Given the description of an element on the screen output the (x, y) to click on. 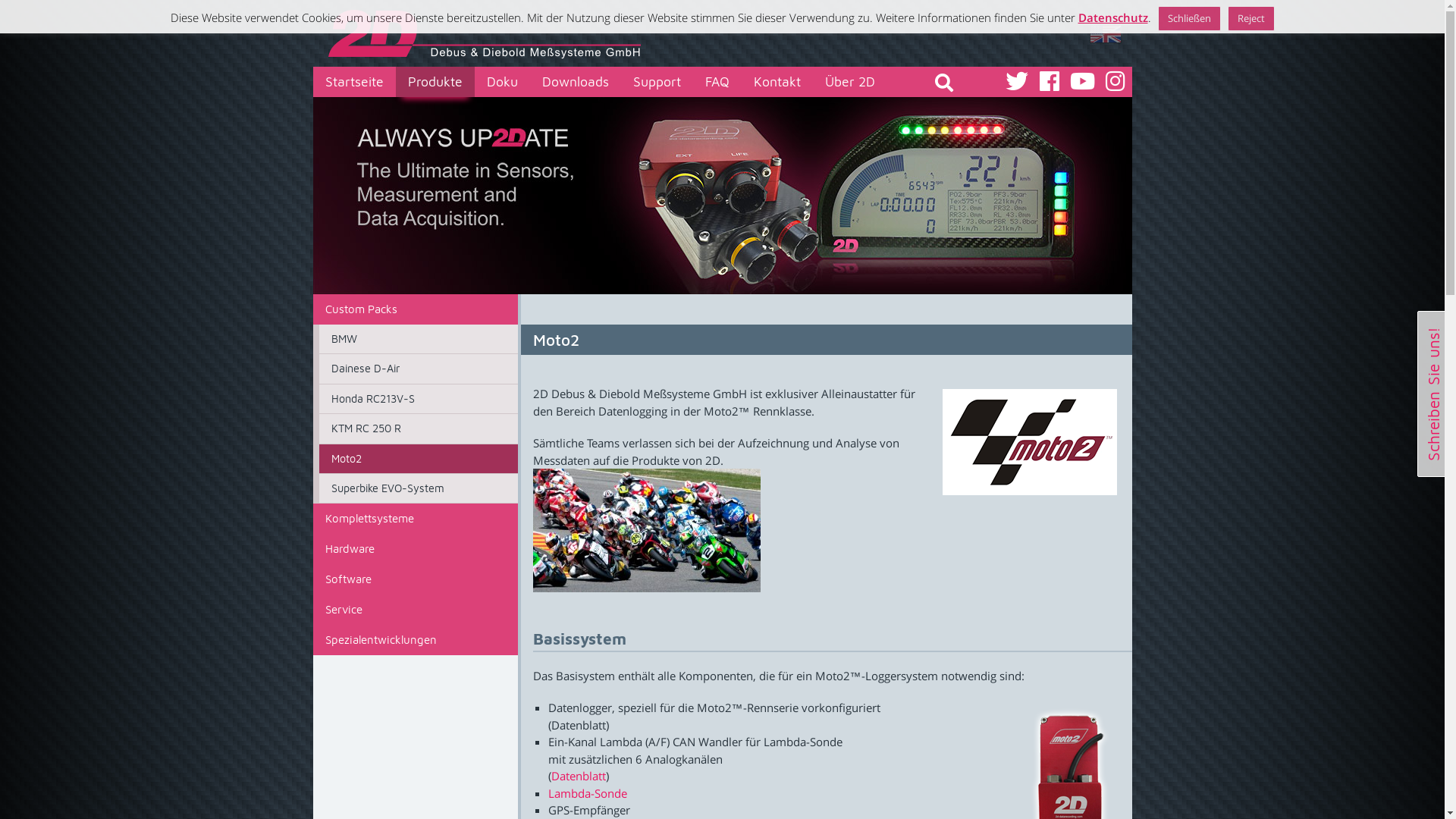
Datenblatt Element type: text (577, 775)
KTM RC 250 R Element type: text (417, 428)
Spezialentwicklungen Element type: text (414, 639)
Kontakt Element type: text (776, 81)
Sehen Sie uns auf Instagram Element type: hover (1114, 80)
Superbike EVO-System Element type: text (417, 487)
Honda RC213V-S Element type: text (417, 398)
Komplettsysteme Element type: text (414, 428)
FAQ Element type: text (717, 81)
Folgen Sie uns auf Facebook Element type: hover (1048, 80)
English Element type: text (1104, 33)
Moto2 Element type: text (417, 458)
Custom Packs Element type: text (414, 309)
Datenschutz Element type: text (1113, 17)
Software Element type: text (414, 579)
Produkte Element type: text (434, 81)
BMW Element type: text (417, 338)
Reject Element type: text (1250, 18)
Lambda-Sonde Element type: text (586, 792)
Support Element type: text (656, 81)
Startseite Element type: text (353, 81)
Dainese D-Air Element type: text (417, 368)
Folgen Sie uns auf twitter Element type: hover (1016, 80)
Hardware Element type: text (414, 548)
Doku Element type: text (502, 81)
Folgen Sie uns auf YouTube Element type: hover (1082, 80)
Downloads Element type: text (574, 81)
Service Element type: text (414, 609)
